Given the description of an element on the screen output the (x, y) to click on. 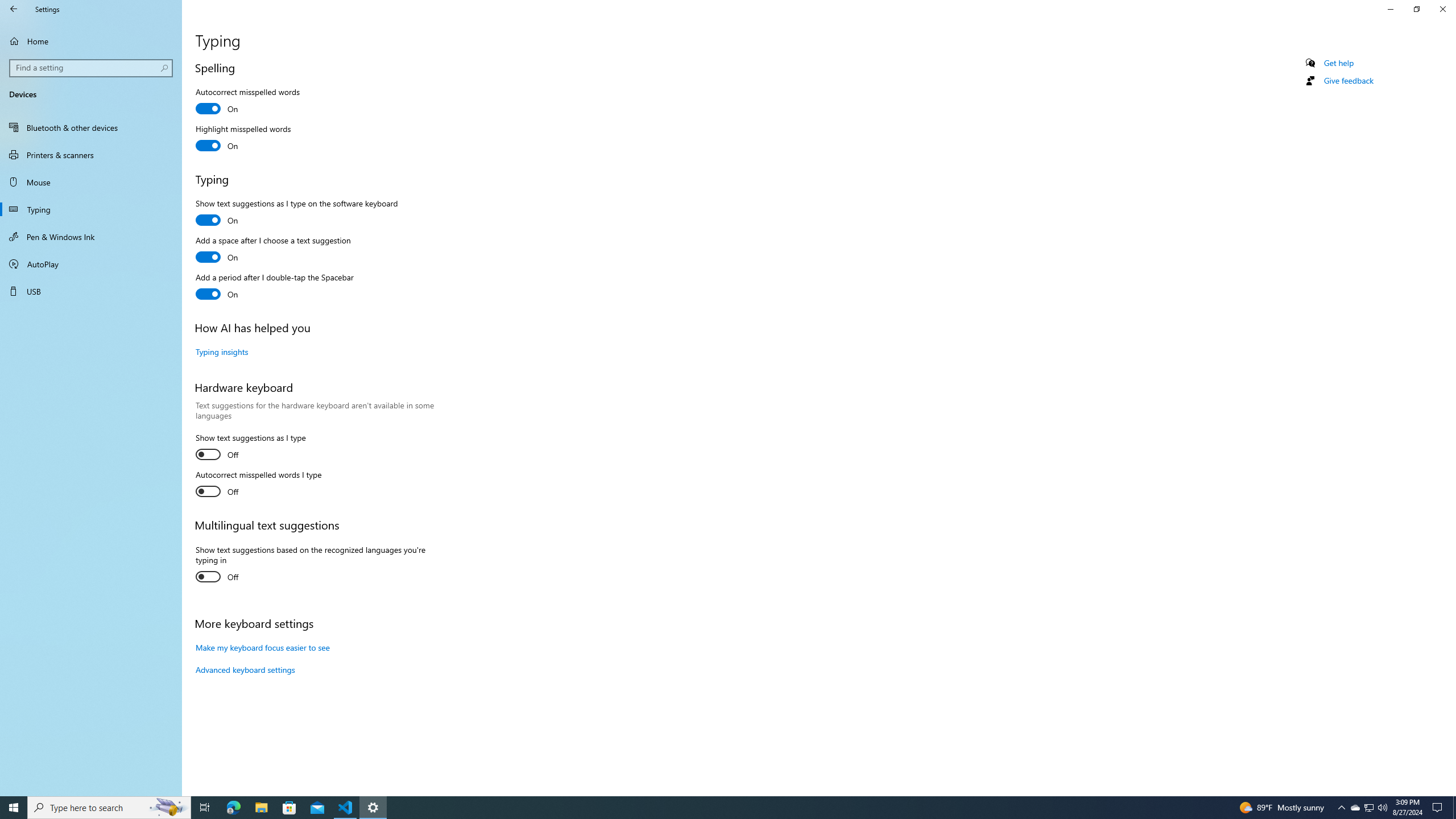
Restore Settings (1416, 9)
Close Settings (1442, 9)
File Explorer (261, 807)
Search box, Find a setting (91, 67)
AutoPlay (91, 263)
Microsoft Store (289, 807)
Visual Studio Code - 1 running window (345, 807)
Back (13, 9)
Mouse (91, 181)
Add a period after I double-tap the Spacebar (274, 287)
Advanced keyboard settings (245, 669)
Type here to search (108, 807)
Settings - 1 running window (373, 807)
Notification Chevron (1341, 807)
Get help (1338, 62)
